Given the description of an element on the screen output the (x, y) to click on. 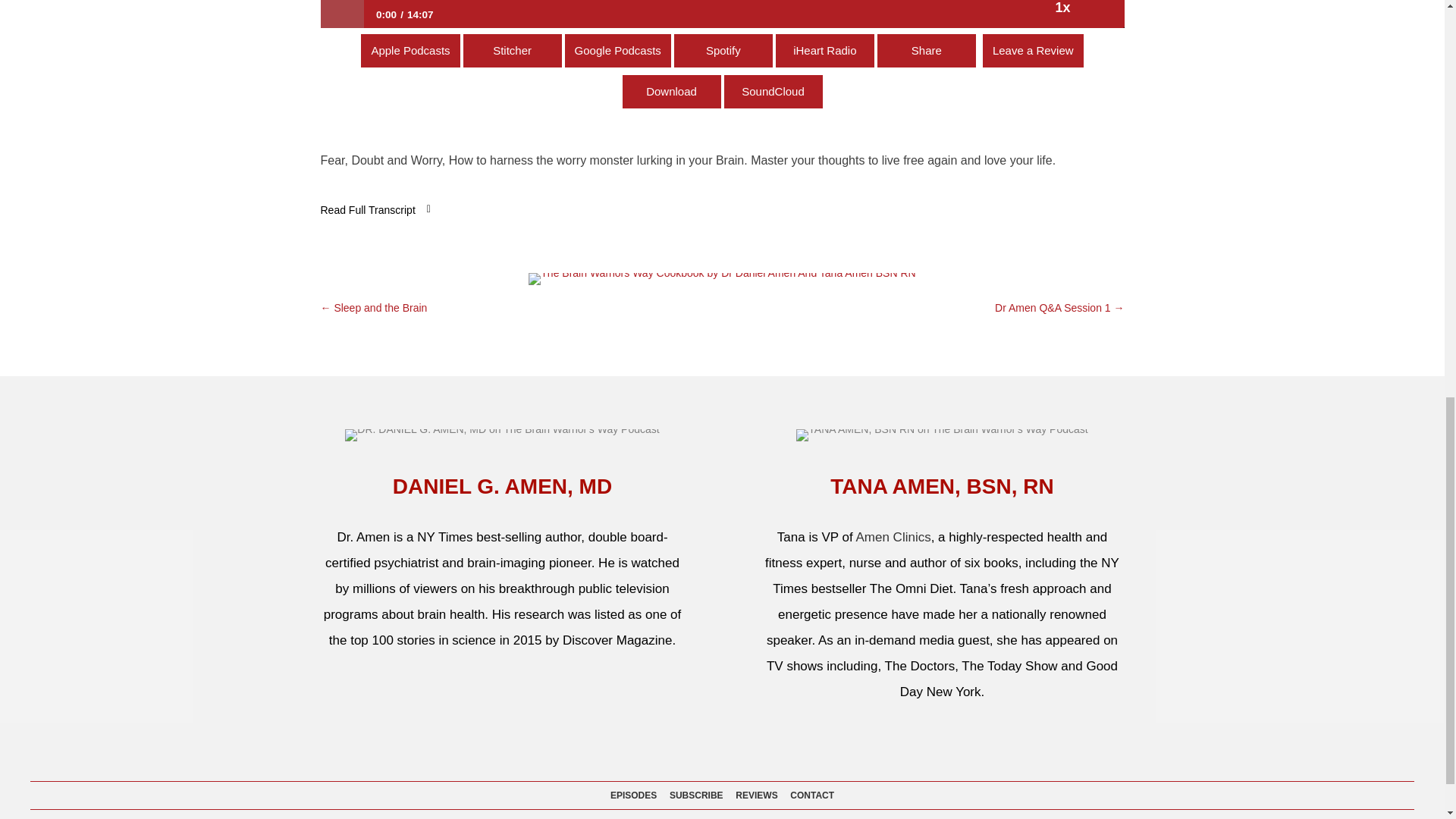
Dr-Daniel-Amen-on-the-Brain-Warriors-Way-Podcast (502, 434)
Tana-Amen-BSN-RN-on-the-Brain-Warriors-Way-Podcast (941, 434)
